Given the description of an element on the screen output the (x, y) to click on. 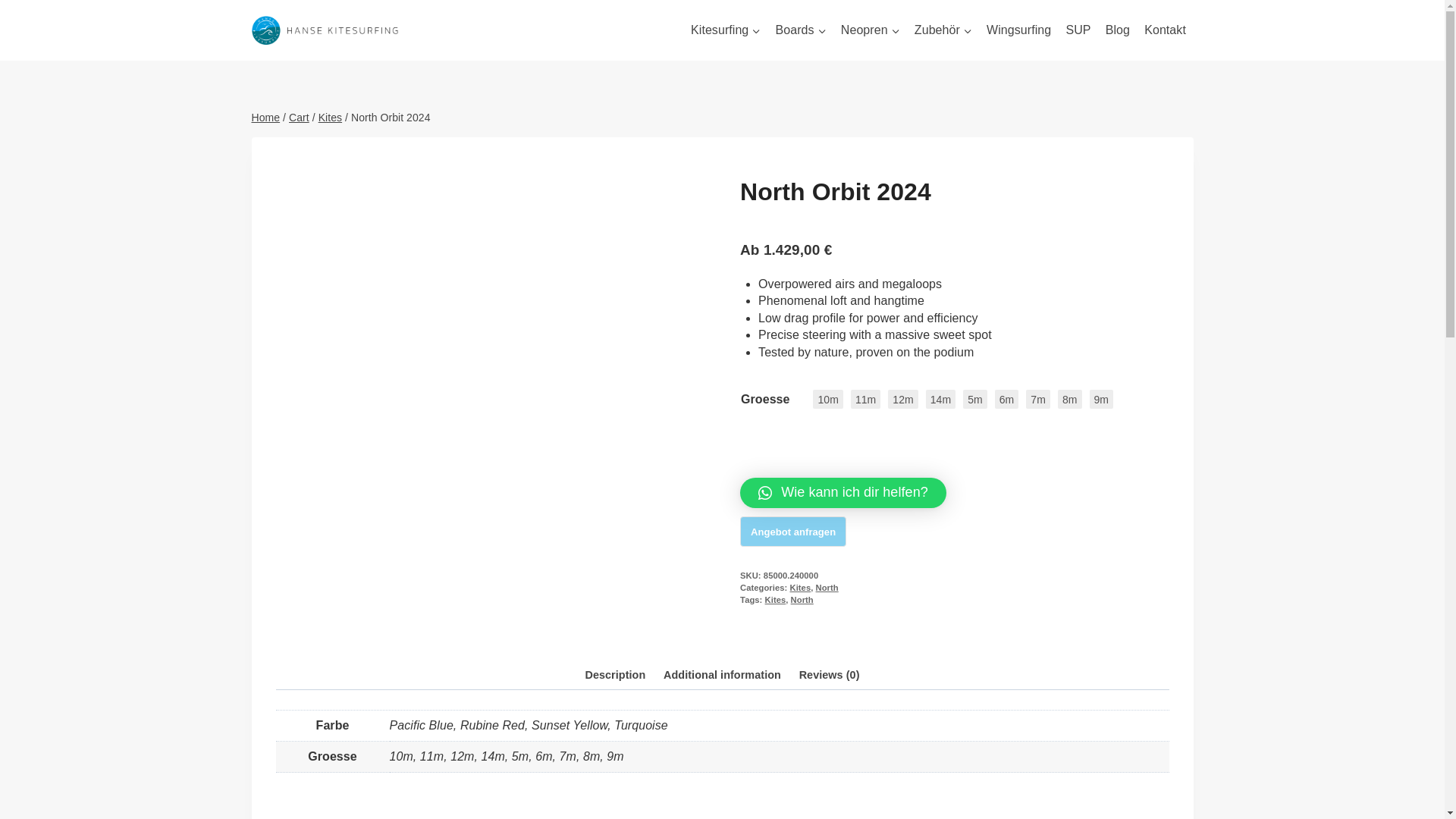
Kites (330, 117)
Kites (800, 587)
North (826, 587)
Home (266, 117)
Blog (1117, 29)
Neopren (869, 29)
North (801, 599)
Angebot anfragen (792, 531)
Wie kann ich dir helfen? (842, 492)
SUP (1077, 29)
Cart (298, 117)
Wingsurfing (1018, 29)
Kontakt (1165, 29)
Kites (775, 599)
Boards (800, 29)
